Given the description of an element on the screen output the (x, y) to click on. 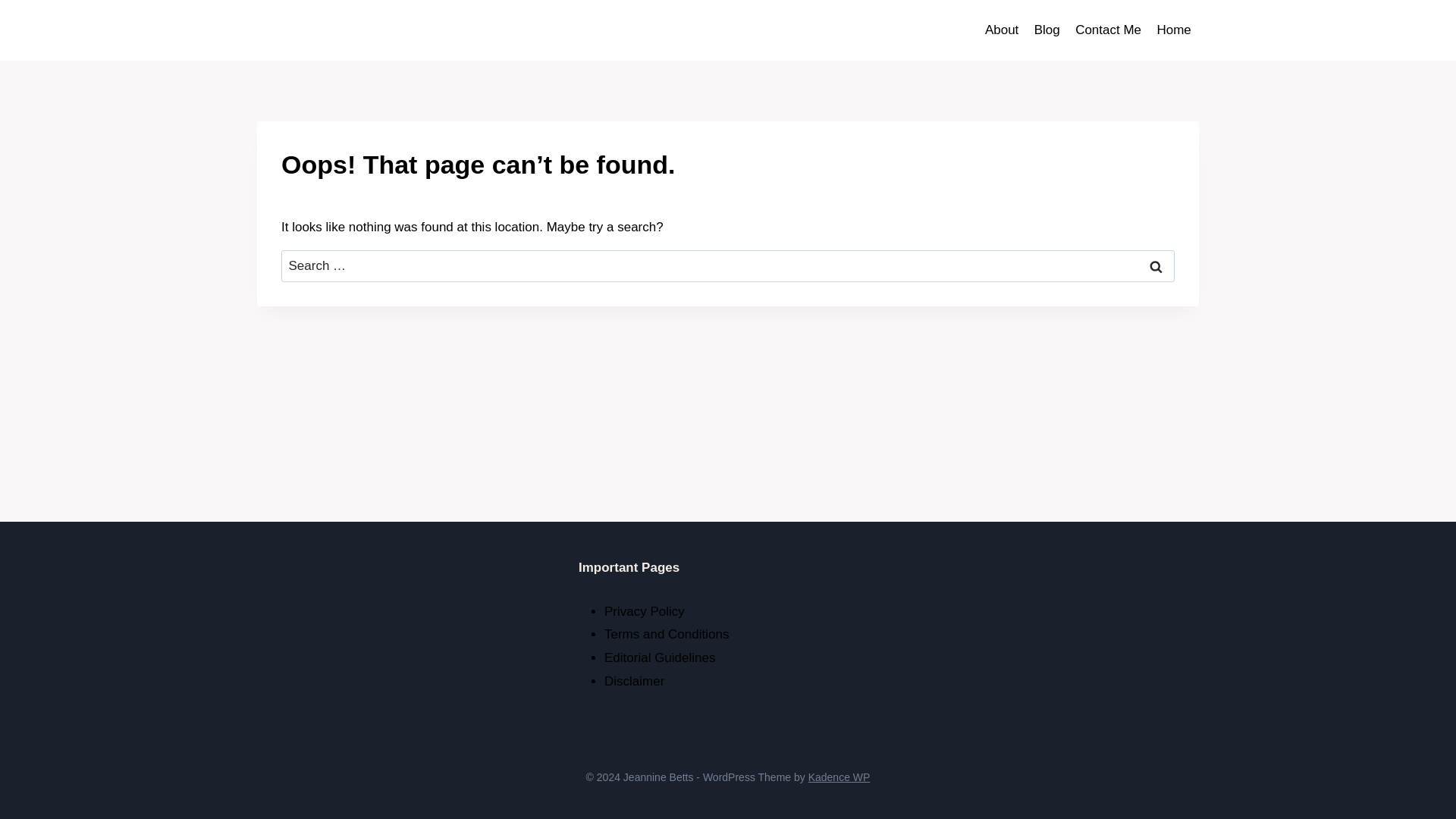
Contact Me (1107, 30)
Search (1155, 266)
Blog (1046, 30)
Home (1173, 30)
Search (1155, 266)
Kadence WP (839, 776)
Search (1155, 266)
About (1001, 30)
